Given the description of an element on the screen output the (x, y) to click on. 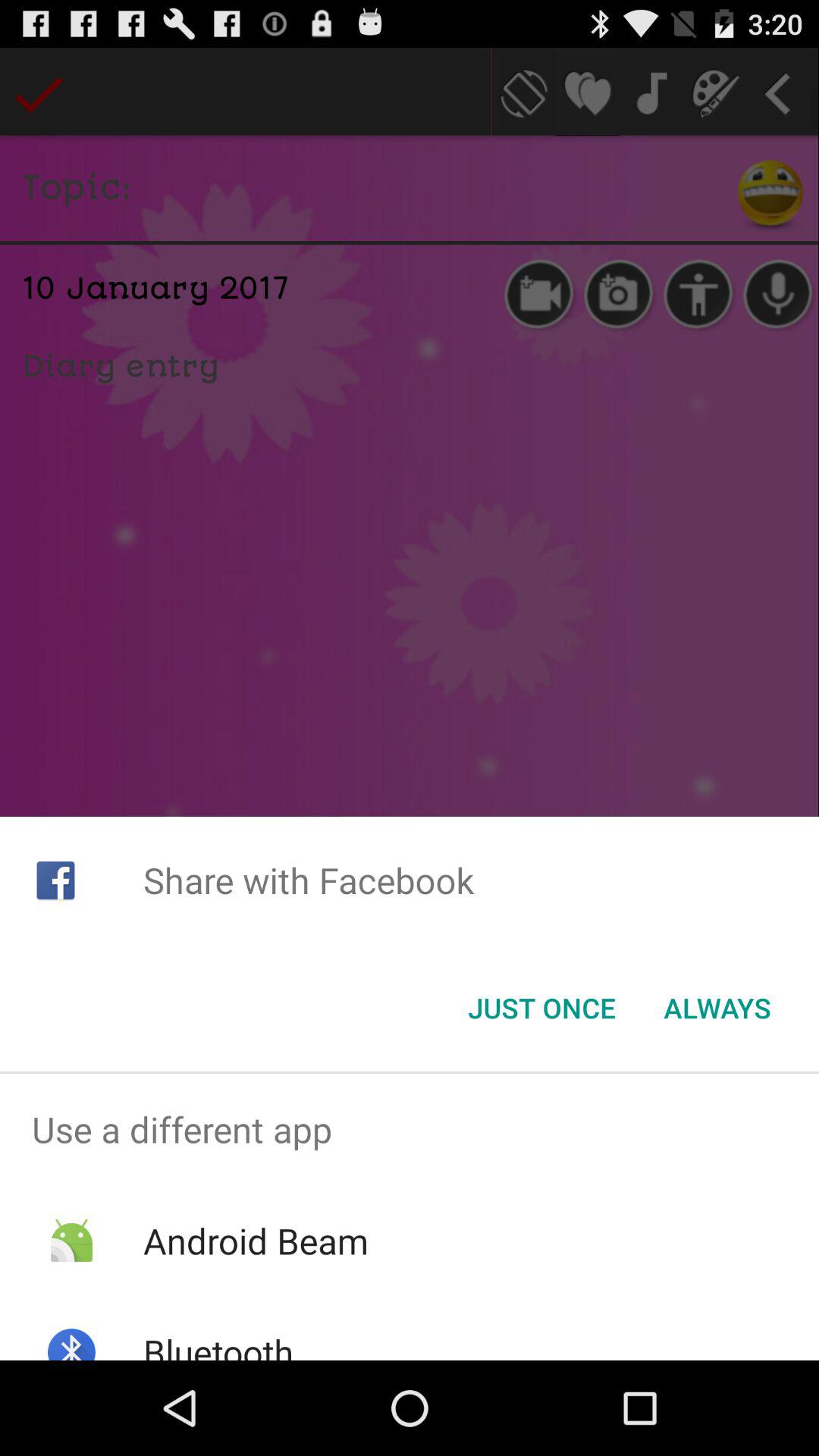
choose the button next to always (541, 1007)
